Given the description of an element on the screen output the (x, y) to click on. 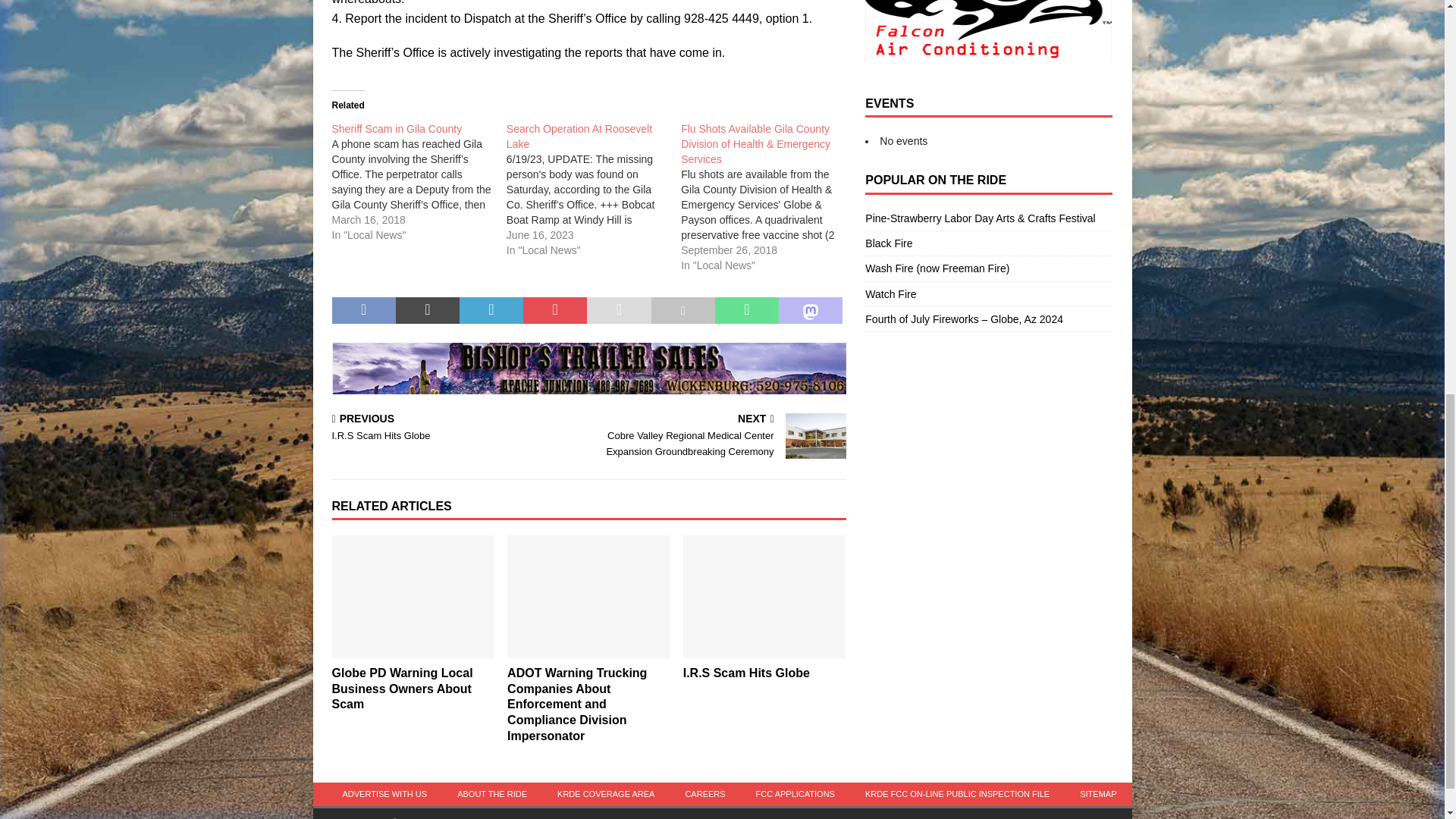
Tweet This Post (428, 310)
Search Operation At Roosevelt Lake (593, 189)
Share on LinkedIn (491, 310)
Sheriff Scam in Gila County (418, 181)
Share on Facebook (363, 310)
Sheriff Scam in Gila County (397, 128)
Search Operation At Roosevelt Lake (579, 135)
